Given the description of an element on the screen output the (x, y) to click on. 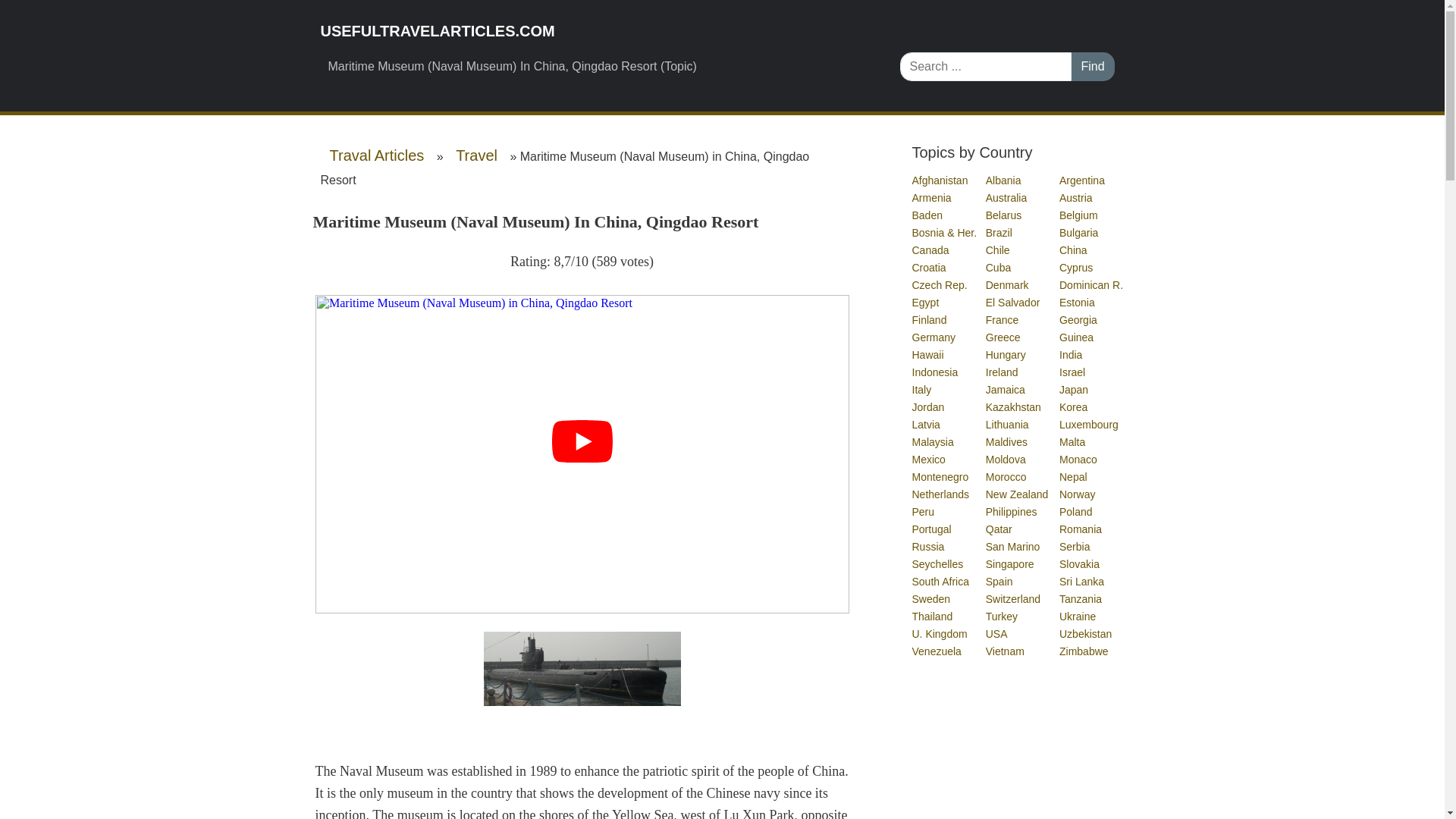
El Salvador (1013, 302)
Travel (476, 155)
Canada (930, 250)
Traval Articles (376, 155)
China (1074, 250)
Belarus (1004, 215)
Germany (933, 337)
Denmark (1007, 285)
Cuba (998, 267)
Croatia (929, 267)
Find (1091, 66)
Austria (1076, 197)
Brazil (999, 232)
Finland (929, 319)
Czech Rep. (939, 285)
